Given the description of an element on the screen output the (x, y) to click on. 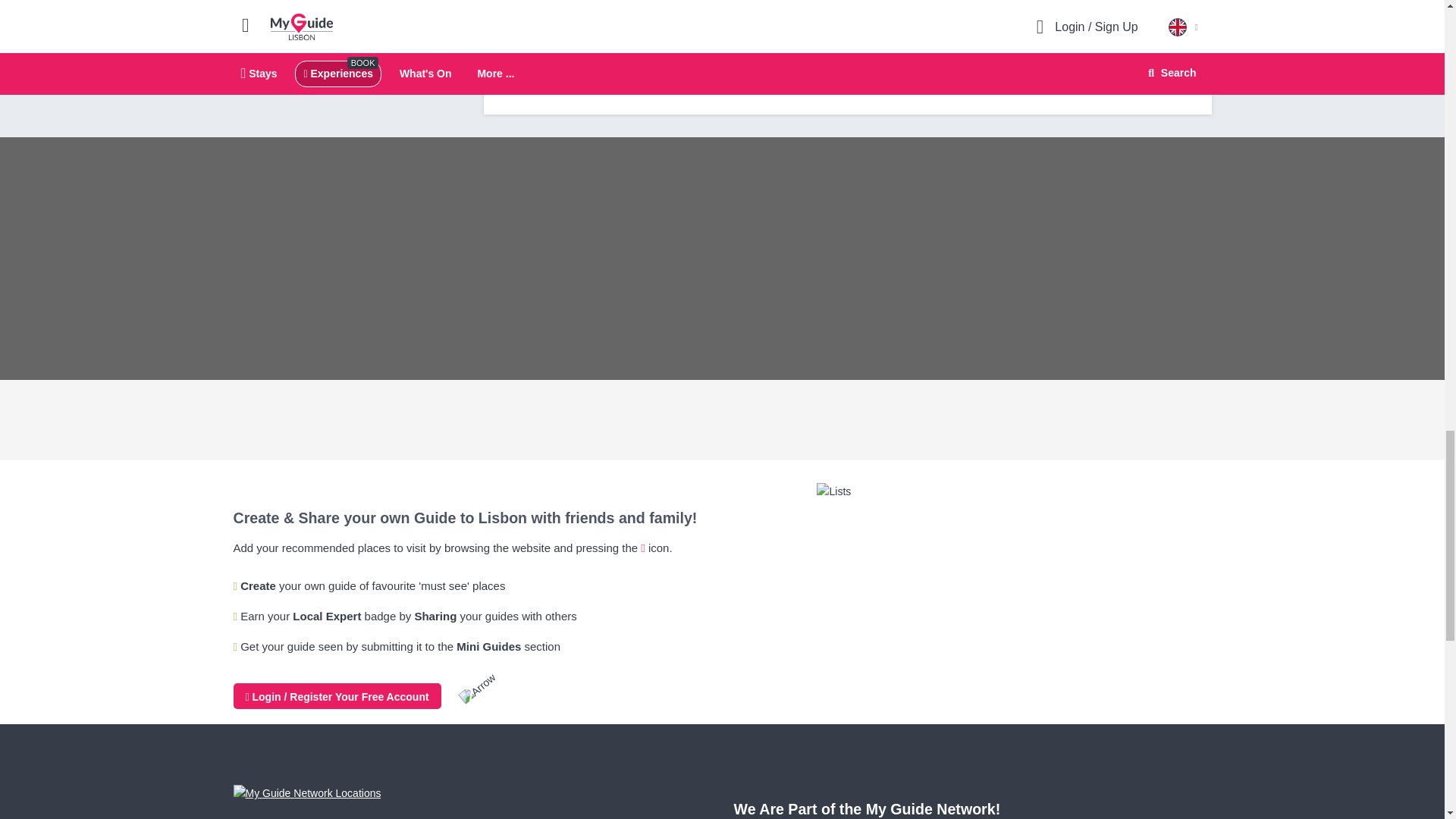
Lisbon: Saint George's Castle Guided Tour with Entry Ticket (578, 28)
Lisbon: Saint George's Castle Guided Tour with Entry Ticket (578, 75)
Lisbon: Saint George's Castle Guided Tour with Entry Ticket (756, 28)
